Given the description of an element on the screen output the (x, y) to click on. 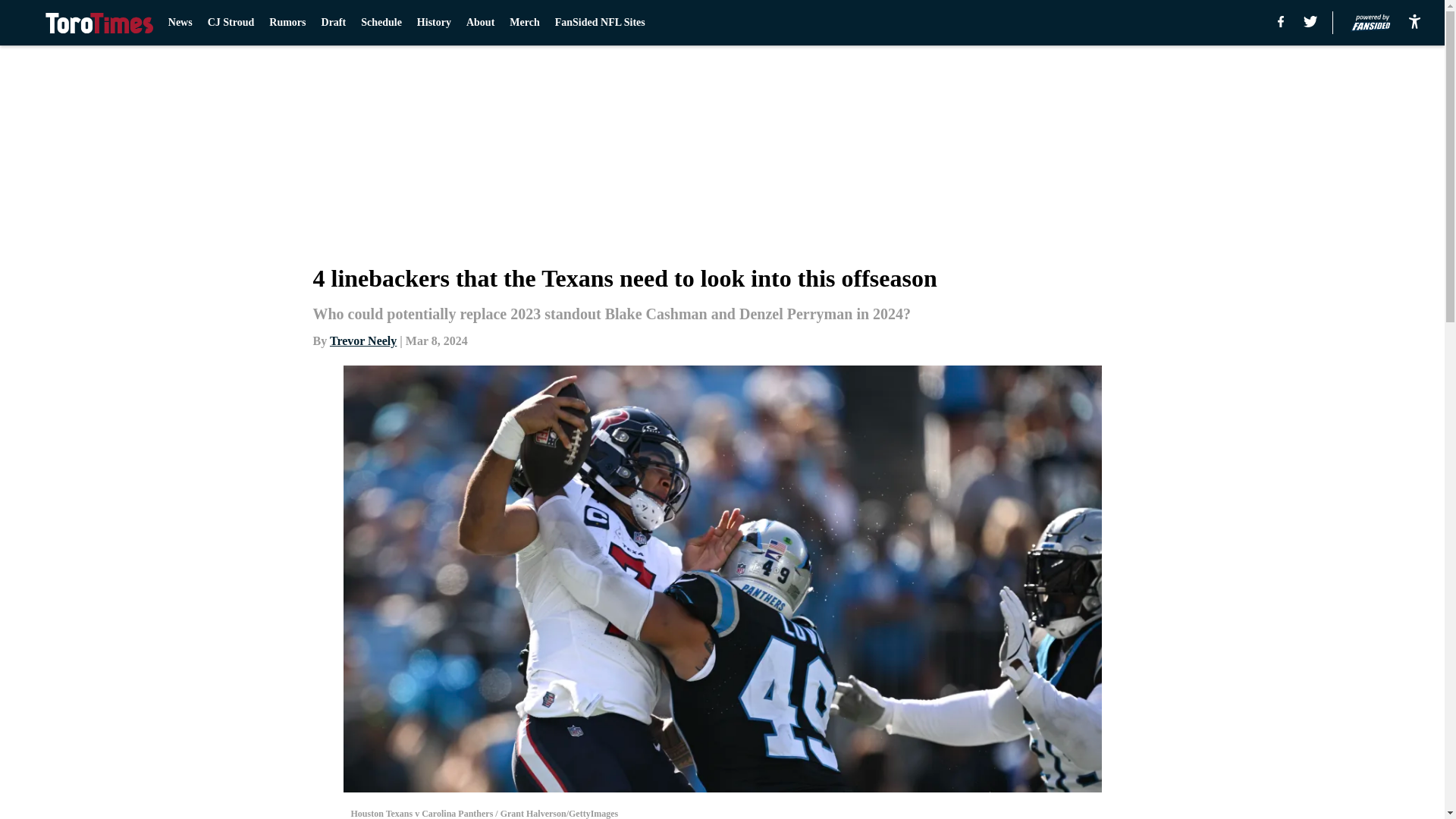
Trevor Neely (363, 340)
Rumors (287, 22)
News (180, 22)
Merch (523, 22)
Draft (333, 22)
CJ Stroud (231, 22)
History (433, 22)
FanSided NFL Sites (599, 22)
Schedule (381, 22)
About (480, 22)
